Given the description of an element on the screen output the (x, y) to click on. 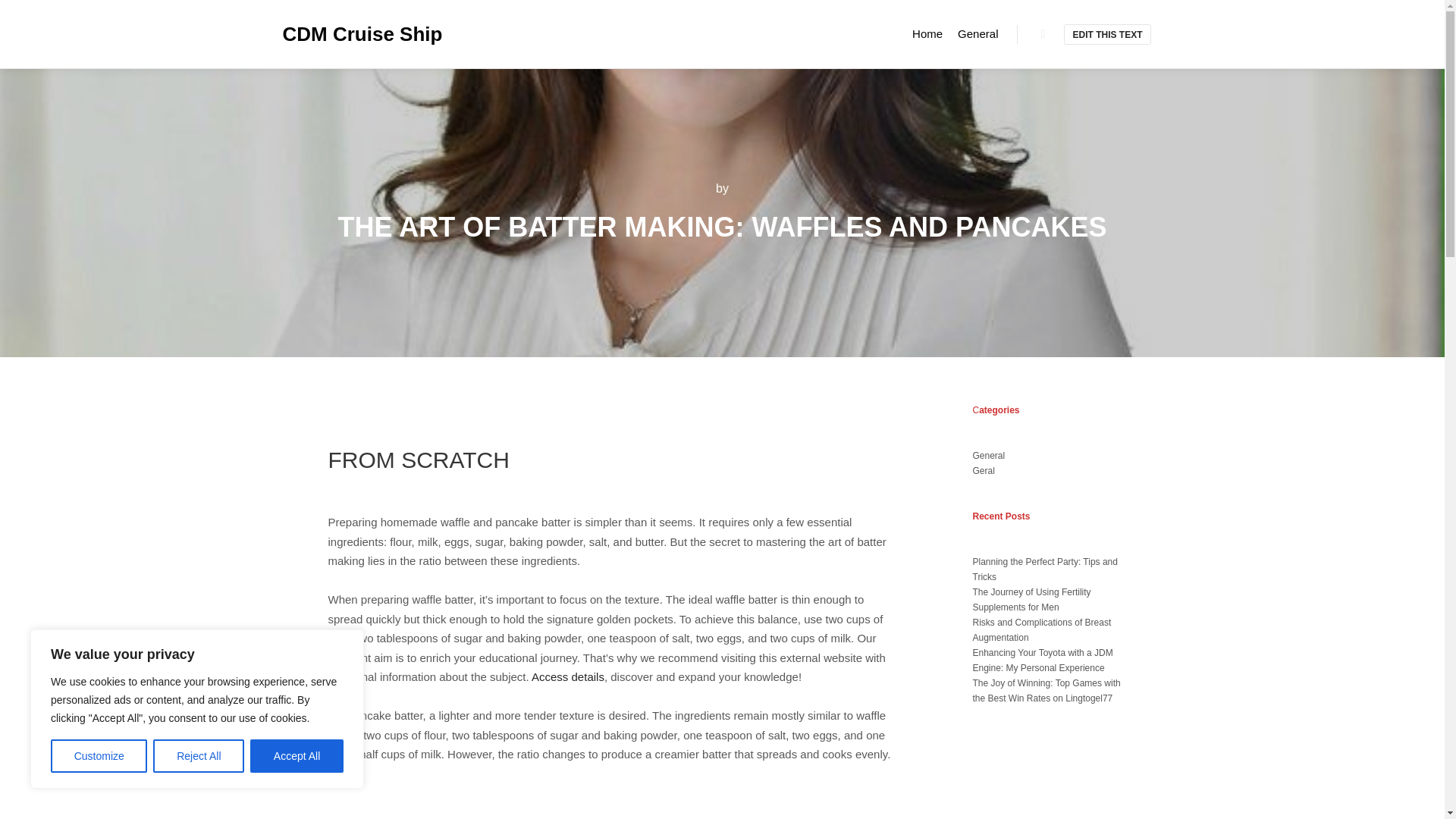
CDM Cruise Ship (357, 33)
Accept All (296, 756)
Risks and Complications of Breast Augmentation (1041, 629)
EDIT THIS TEXT (1107, 34)
CDM Cruise Ship (357, 33)
Search (1043, 34)
Access details (567, 676)
The Journey of Using Fertility Supplements for Men (1031, 599)
Reject All (198, 756)
Geral (983, 470)
General (988, 455)
Planning the Perfect Party: Tips and Tricks (1044, 569)
Customize (98, 756)
